Given the description of an element on the screen output the (x, y) to click on. 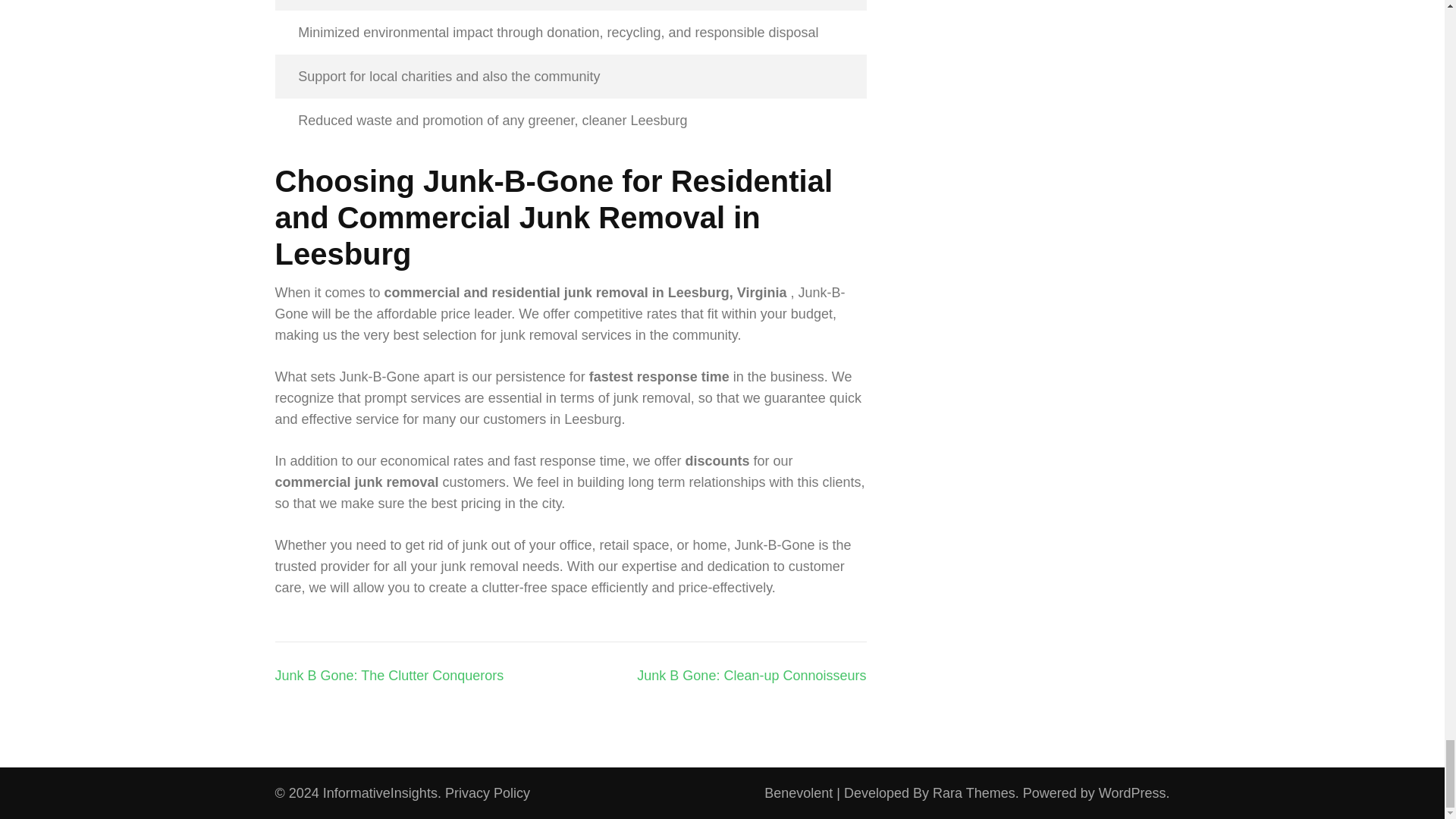
Junk B Gone: Clean-up Connoisseurs (751, 675)
Junk B Gone: The Clutter Conquerors (389, 675)
